Given the description of an element on the screen output the (x, y) to click on. 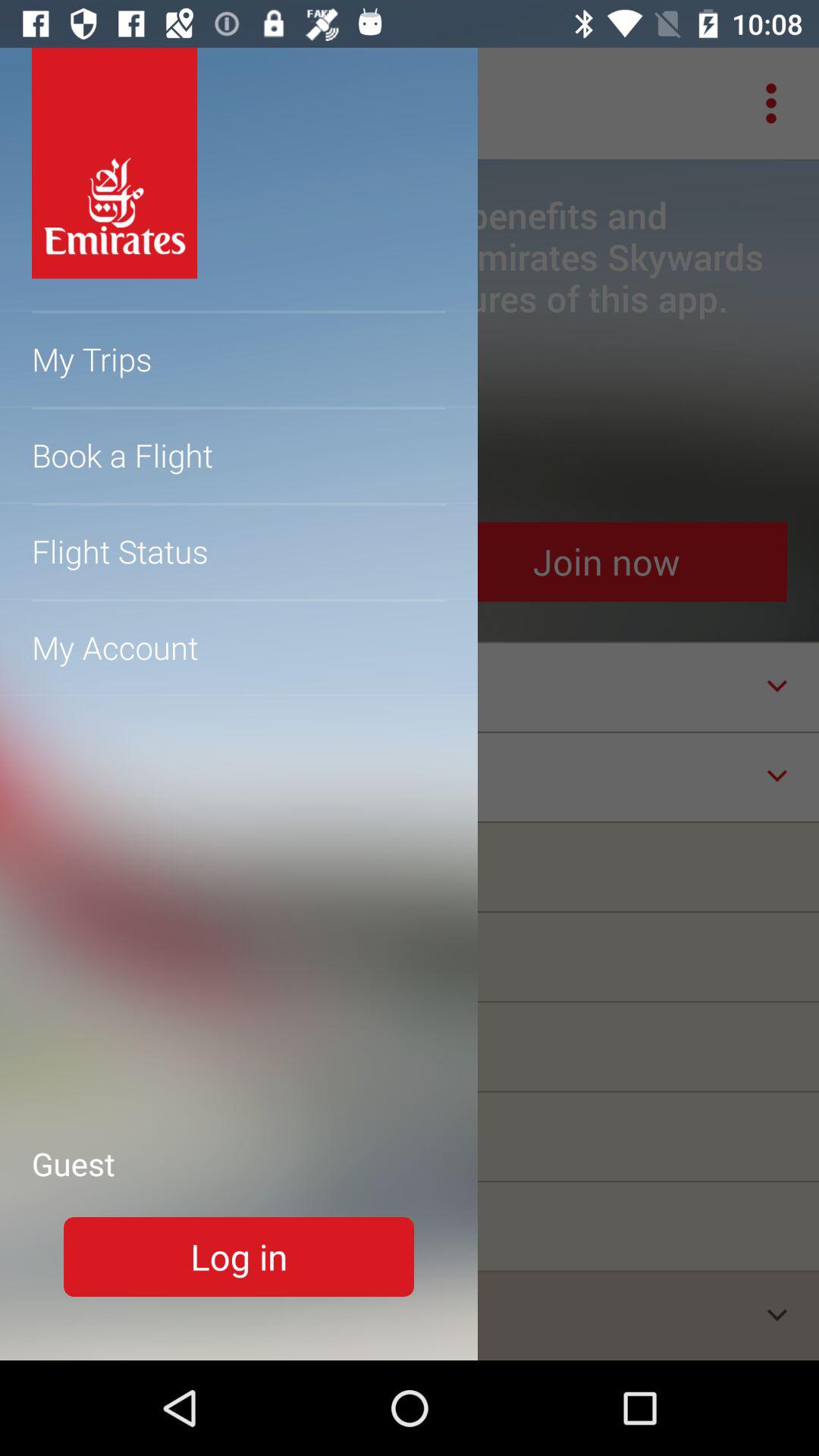
click on login button (238, 1257)
click on the text image emirates (114, 163)
select join now button which is on right side of the page (606, 562)
select the icon which is at the bottom right corner (777, 1315)
